Given the description of an element on the screen output the (x, y) to click on. 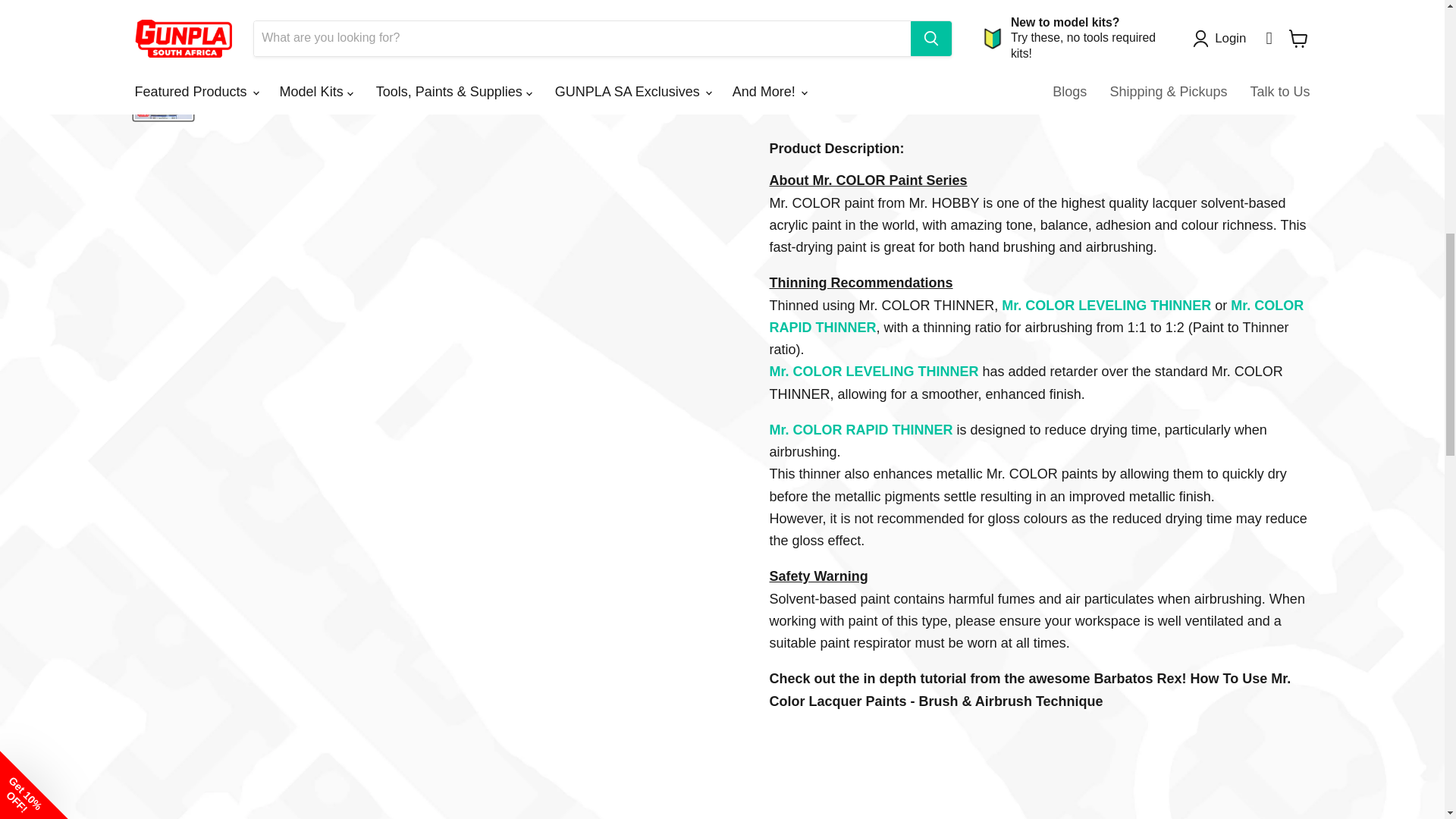
YouTube video player (1038, 772)
